Given the description of an element on the screen output the (x, y) to click on. 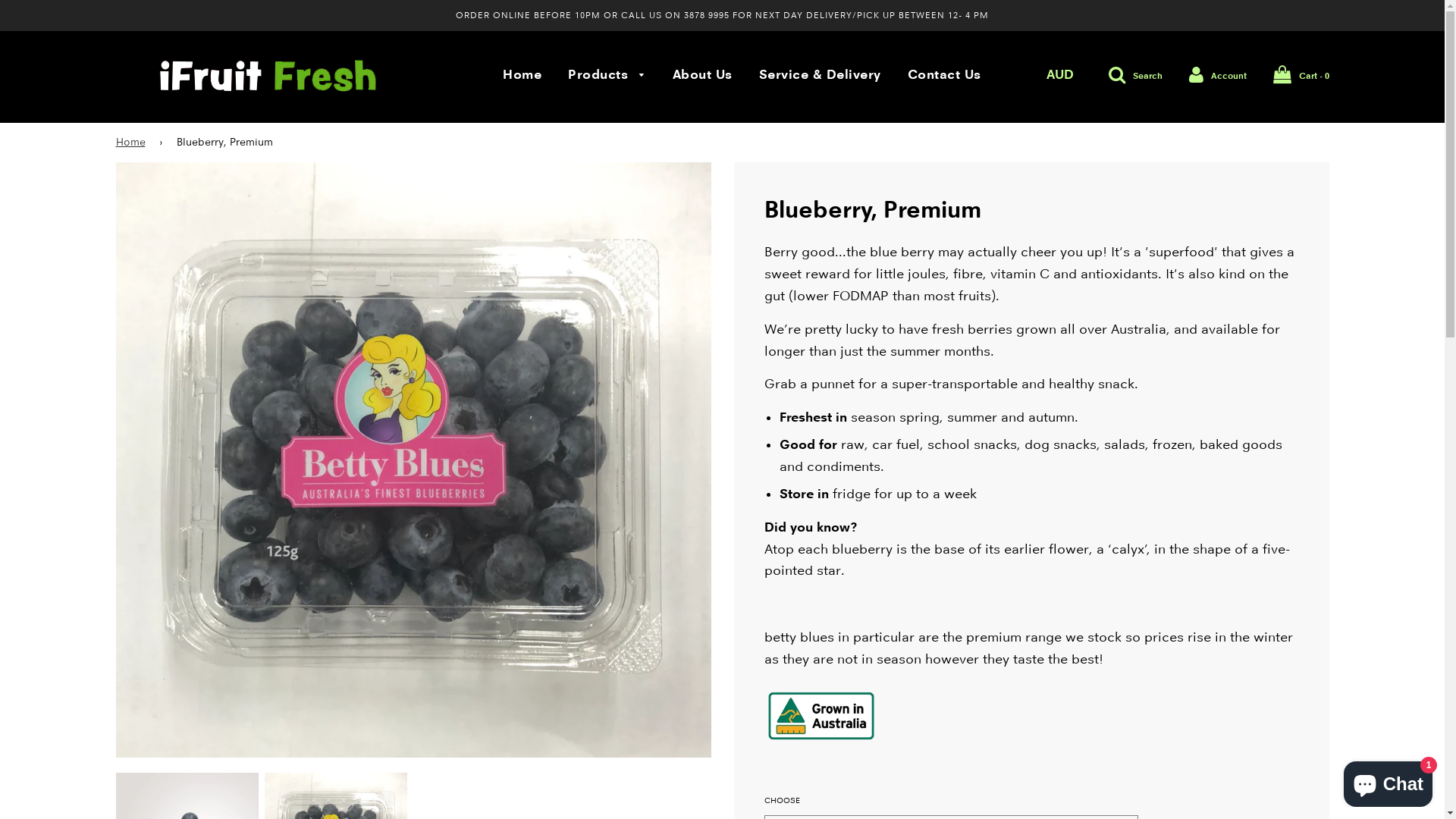
Cart - 0 Element type: text (1300, 75)
Contact Us Element type: text (938, 74)
Home Element type: text (521, 74)
Service & Delivery Element type: text (819, 74)
Shopify online store chat Element type: hover (1388, 780)
Search Element type: text (1135, 74)
Products Element type: text (606, 75)
Account Element type: text (1217, 74)
About Us Element type: text (702, 74)
Home Element type: text (132, 142)
